Given the description of an element on the screen output the (x, y) to click on. 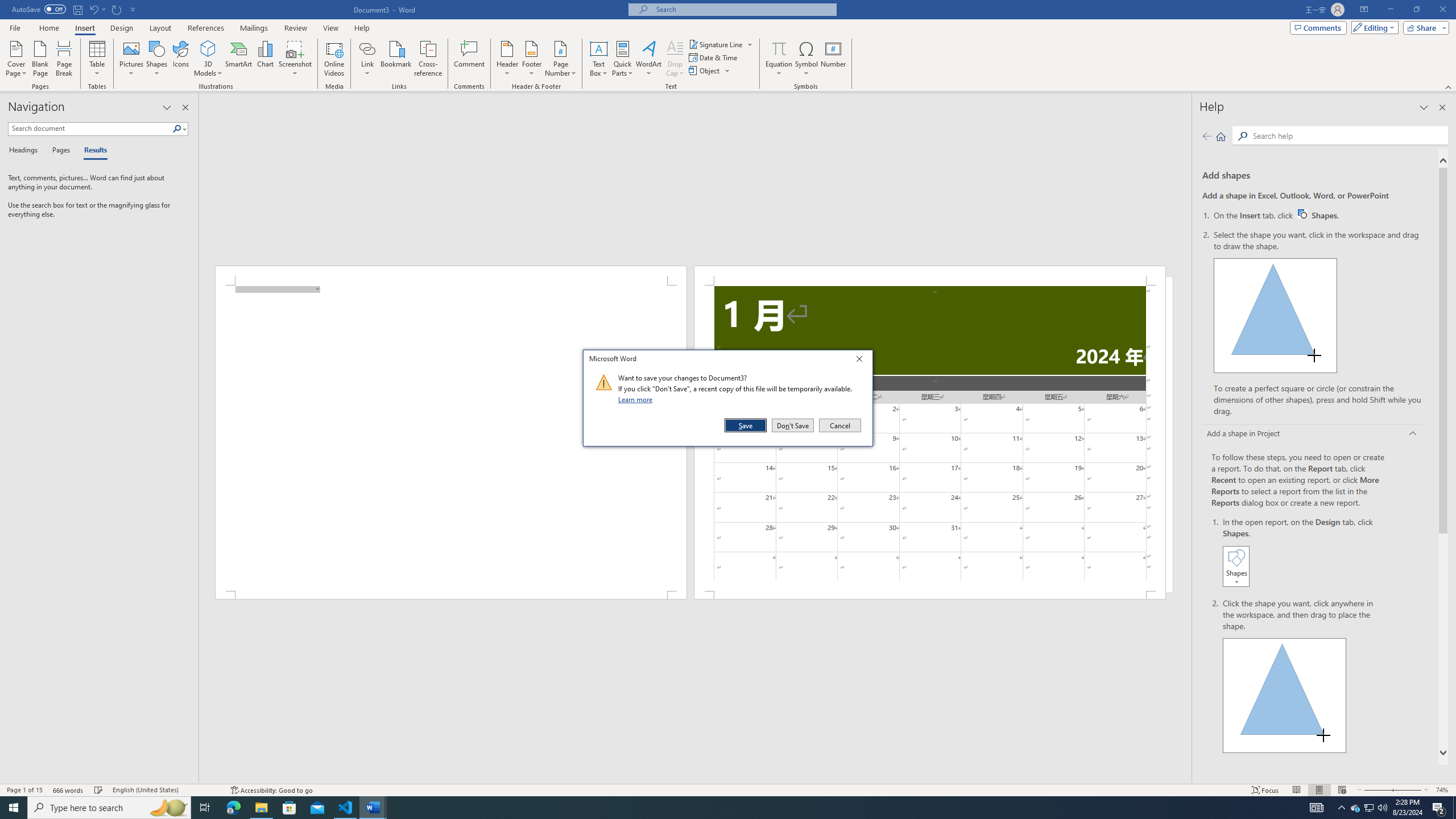
Start (13, 807)
Online Videos... (333, 58)
In the open report, on the Design tab, click Shapes. (1304, 552)
Class: NetUIImage (603, 382)
Cover Page (16, 58)
Zoom Out (1373, 790)
AutoSave (38, 9)
Search (179, 128)
3D Models (208, 48)
Microsoft Edge (233, 807)
